Given the description of an element on the screen output the (x, y) to click on. 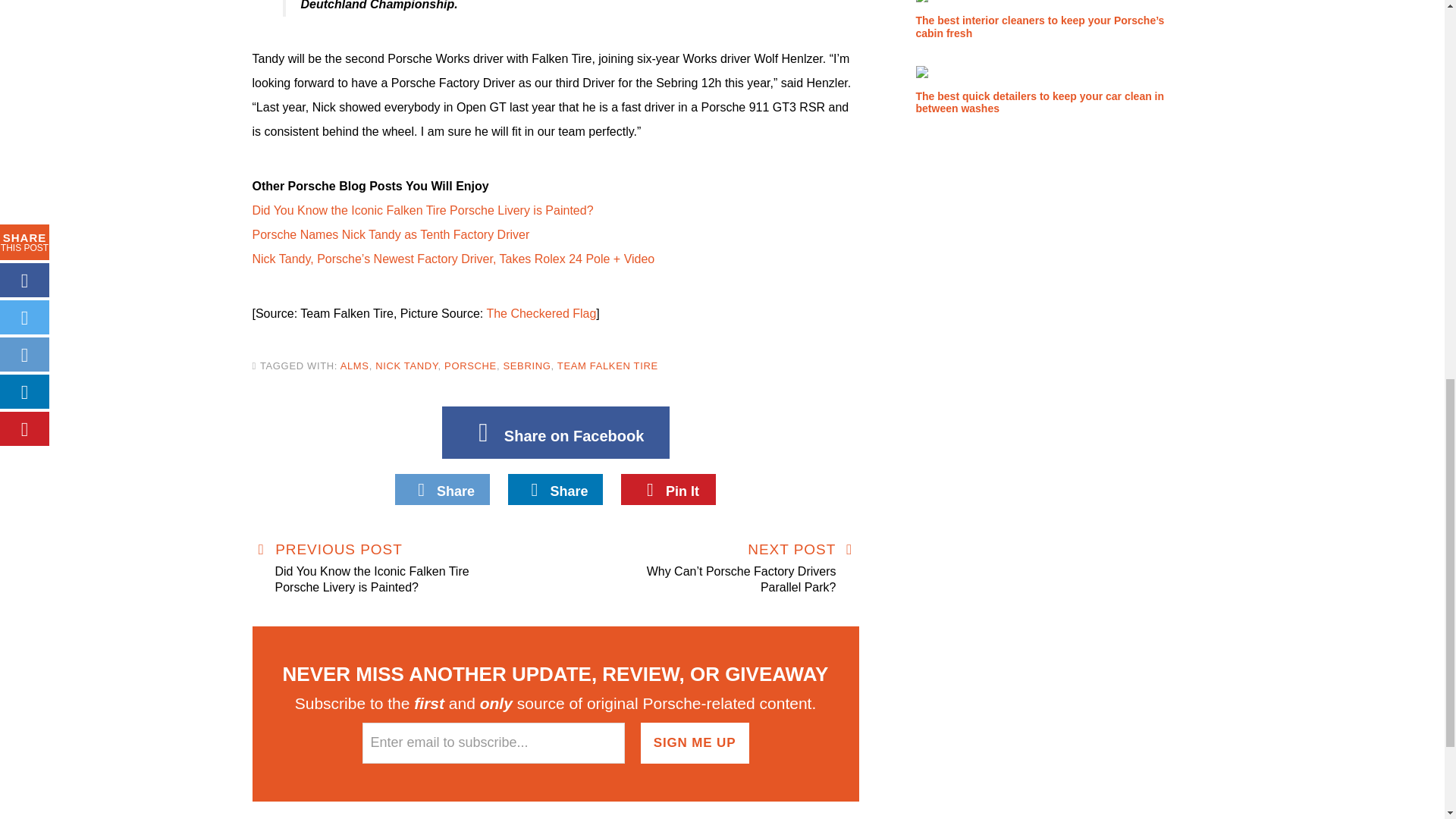
SIGN ME UP (694, 742)
